Given the description of an element on the screen output the (x, y) to click on. 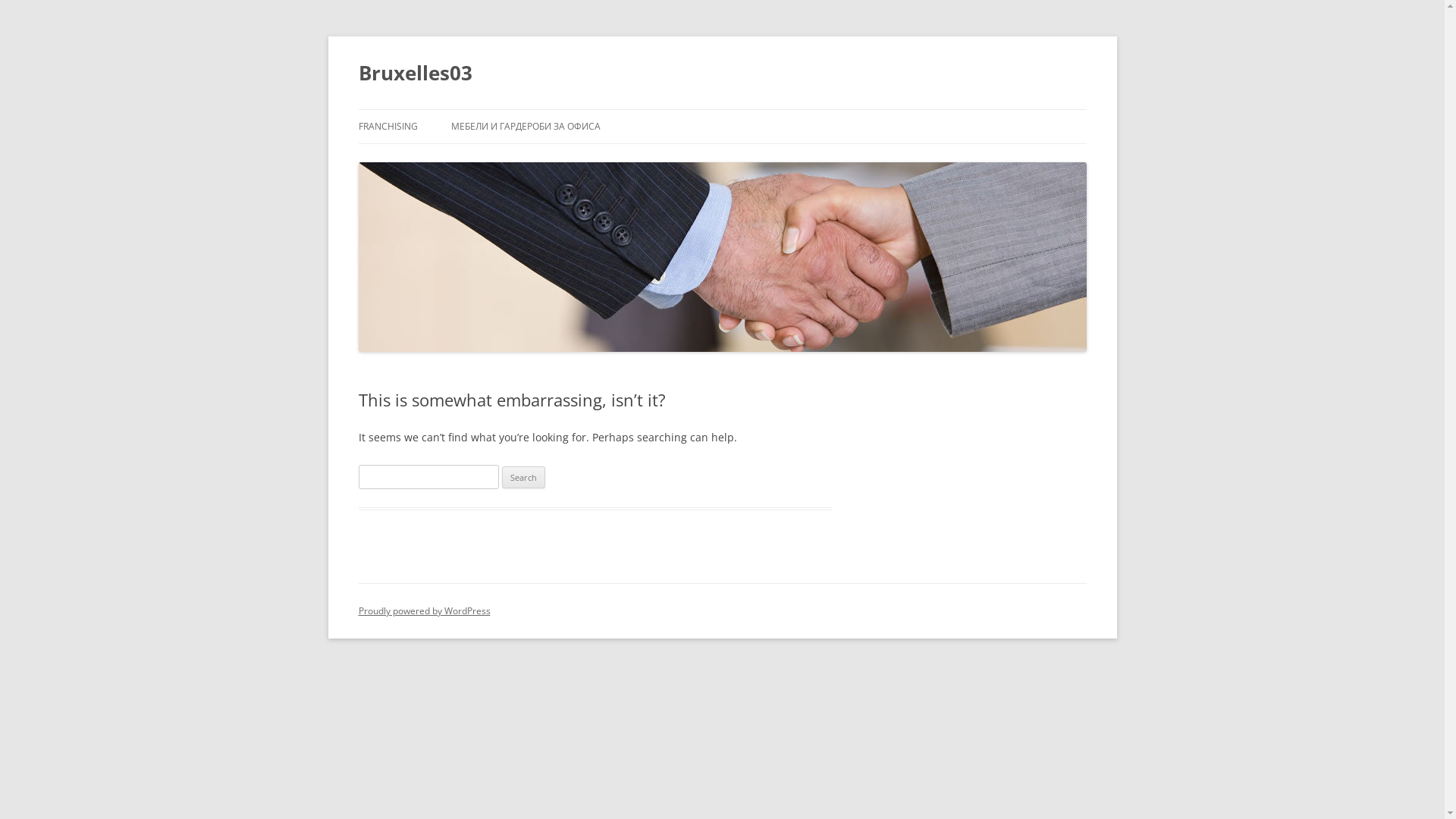
Skip to content Element type: text (721, 109)
Search Element type: text (523, 477)
FRANCHISING Element type: text (387, 126)
Proudly powered by WordPress Element type: text (423, 610)
Bruxelles03 Element type: text (414, 72)
